Given the description of an element on the screen output the (x, y) to click on. 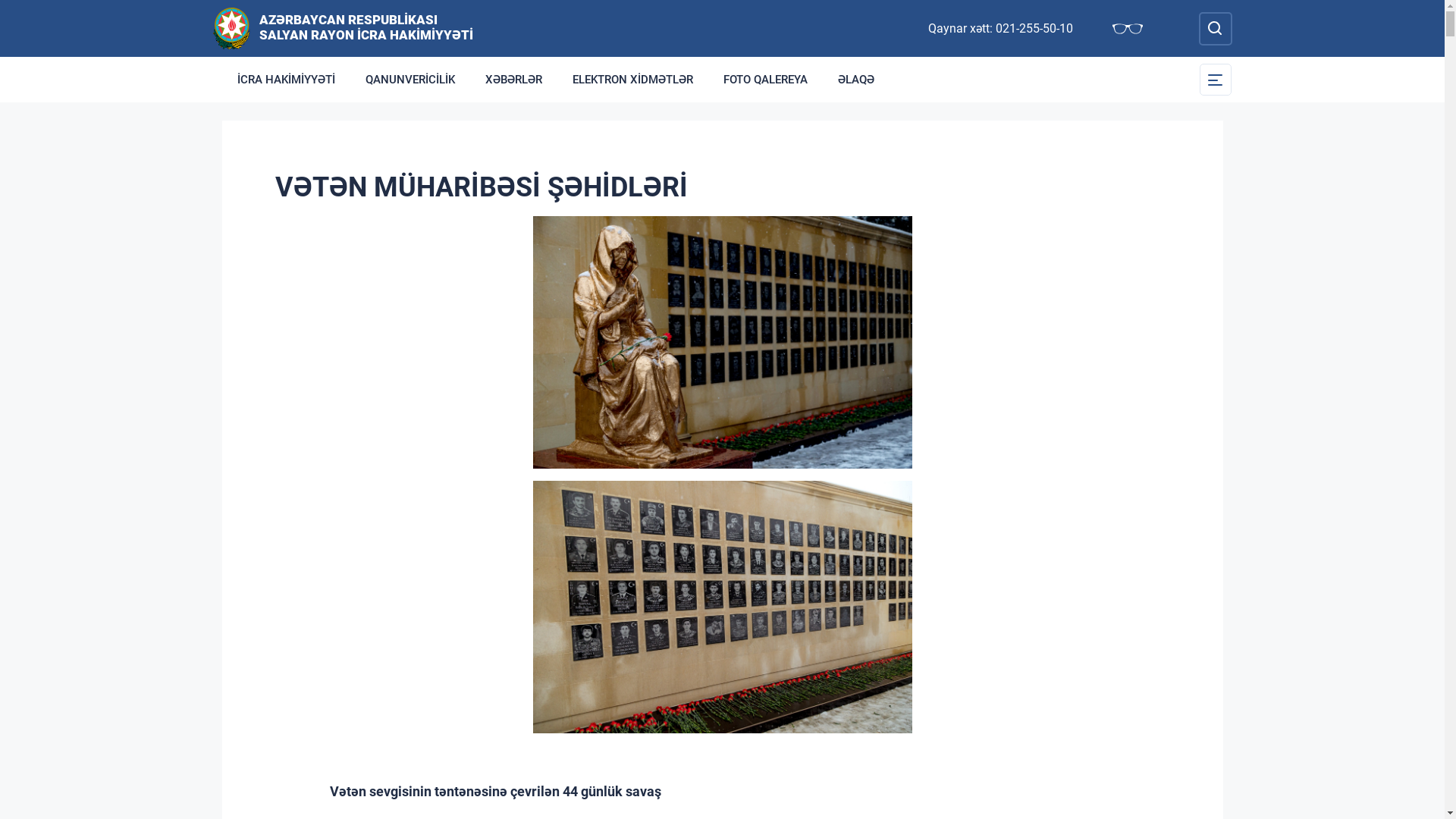
QANUNVERICILIK Element type: text (410, 79)
FOTO QALEREYA Element type: text (765, 79)
